Given the description of an element on the screen output the (x, y) to click on. 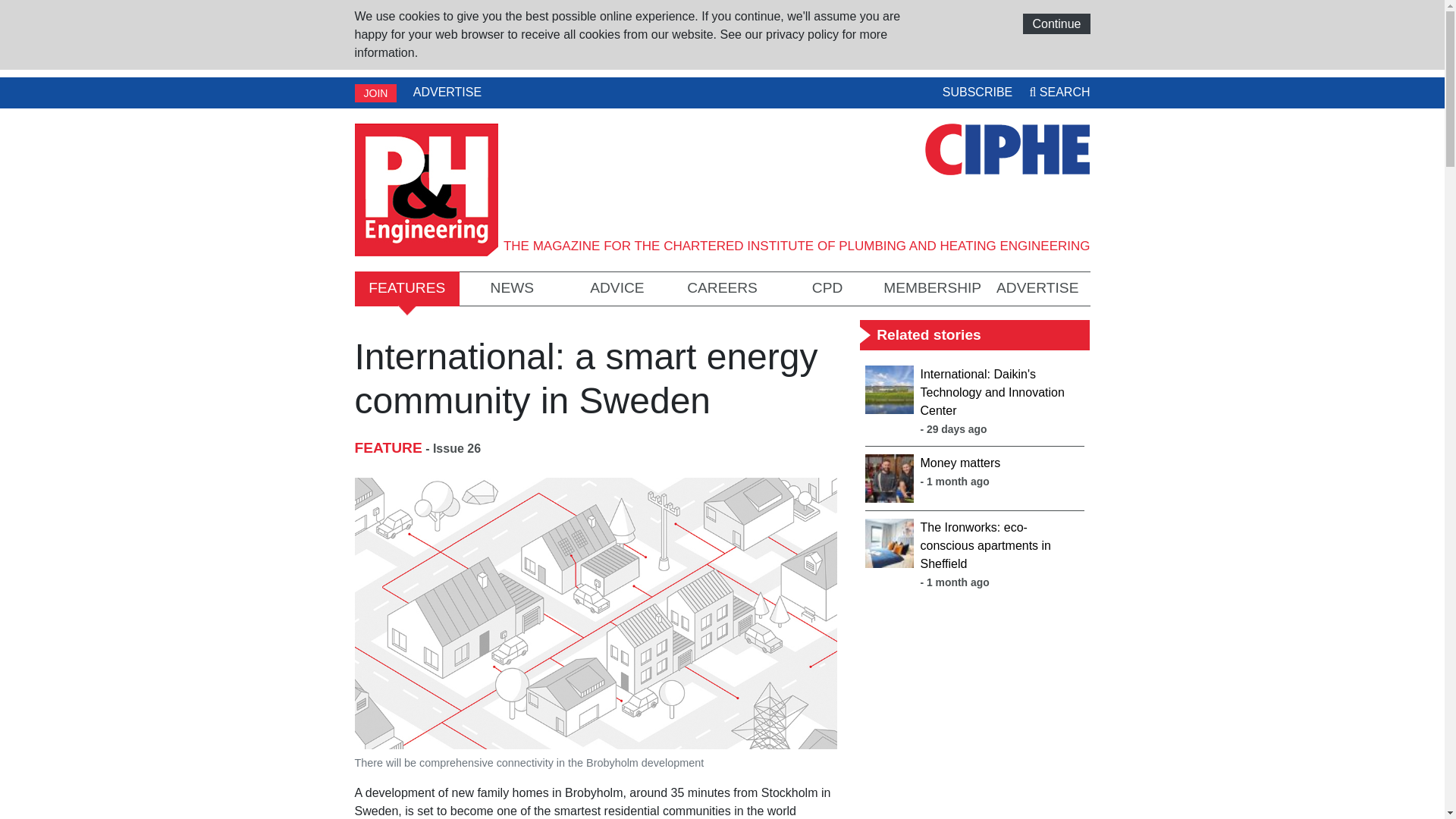
CPD (827, 288)
ADVICE (616, 288)
SUBSCRIBE (976, 91)
SEARCH (1059, 91)
CAREERS (721, 288)
ADVERTISE (447, 91)
The Ironworks: eco-conscious apartments in Sheffield (985, 545)
NEWS (512, 288)
JOIN (376, 93)
Continue (1056, 23)
International: Daikin's Technology and Innovation Center (992, 391)
Money matters (960, 462)
ADVERTISE (1037, 288)
MEMBERSHIP (932, 288)
FEATURES (407, 288)
